Given the description of an element on the screen output the (x, y) to click on. 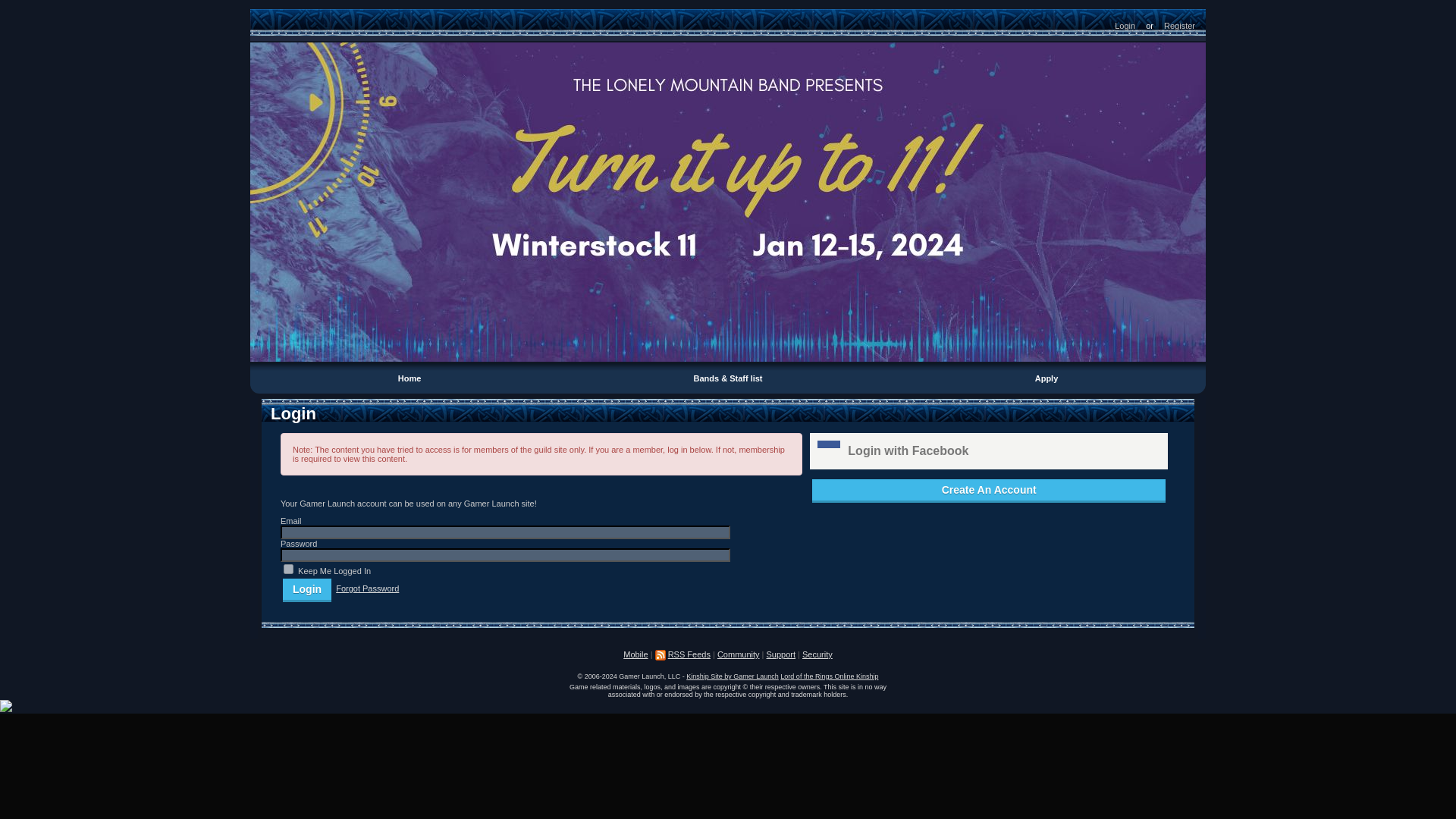
Lord of the Rings Online Kinship Features for Gamer Launch (828, 676)
RSS Feeds (689, 654)
Go to the Site Home Page (267, 19)
Login (306, 588)
Login with Facebook (988, 451)
Home (409, 378)
RSS Feed Available (660, 655)
Support (781, 654)
Login (1124, 23)
Kinship Site by Gamer Launch (731, 676)
Security (817, 654)
Community (738, 654)
Register (1180, 23)
Apply (1046, 378)
Login (306, 588)
